Given the description of an element on the screen output the (x, y) to click on. 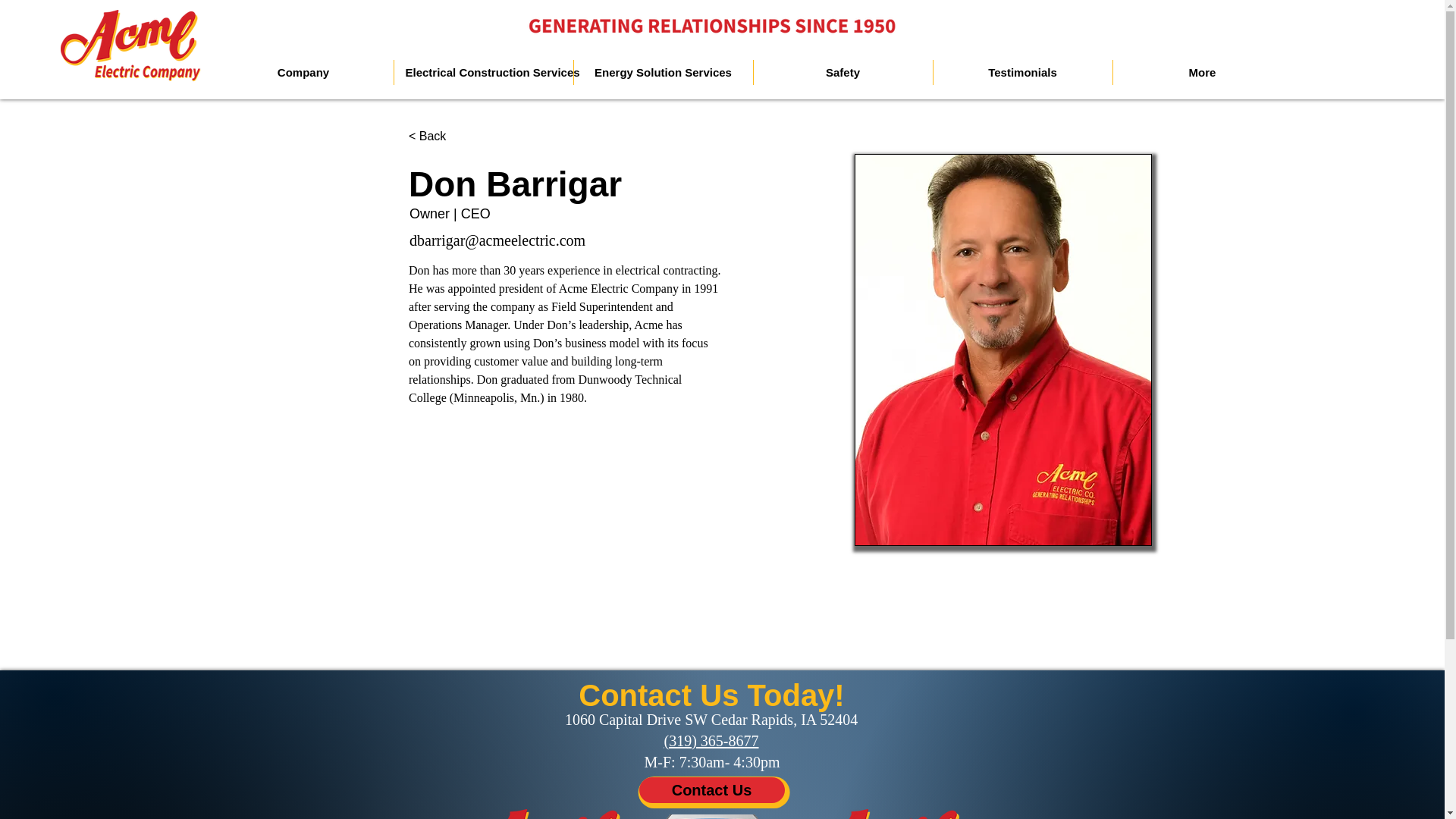
Company (303, 72)
Energy Solution Services (662, 72)
Electrical Construction Services (482, 72)
Contact Us (711, 790)
Safety (841, 72)
Testimonials (1022, 72)
